Given the description of an element on the screen output the (x, y) to click on. 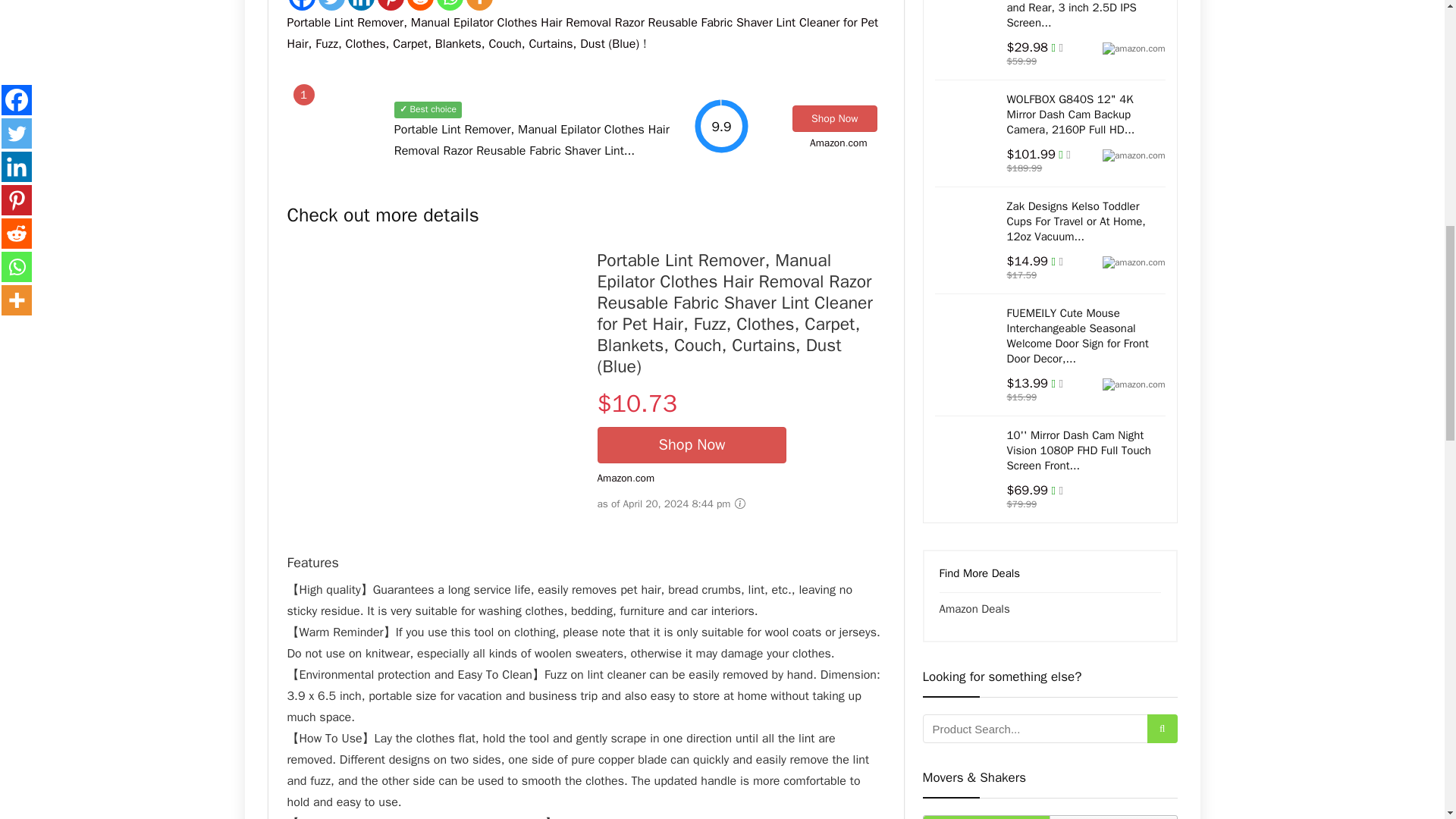
byte (857, 142)
Linkedin (360, 5)
Whatsapp (449, 5)
Shop Now (834, 117)
Facebook (301, 5)
9.9 (721, 125)
Amazon (826, 142)
Amazing Stealz Amazon Page (826, 142)
com (857, 142)
byte (643, 477)
Amazing Stealz Amazon Page (613, 477)
Pinterest (390, 5)
More (478, 5)
Twitter (331, 5)
Reddit (419, 5)
